Given the description of an element on the screen output the (x, y) to click on. 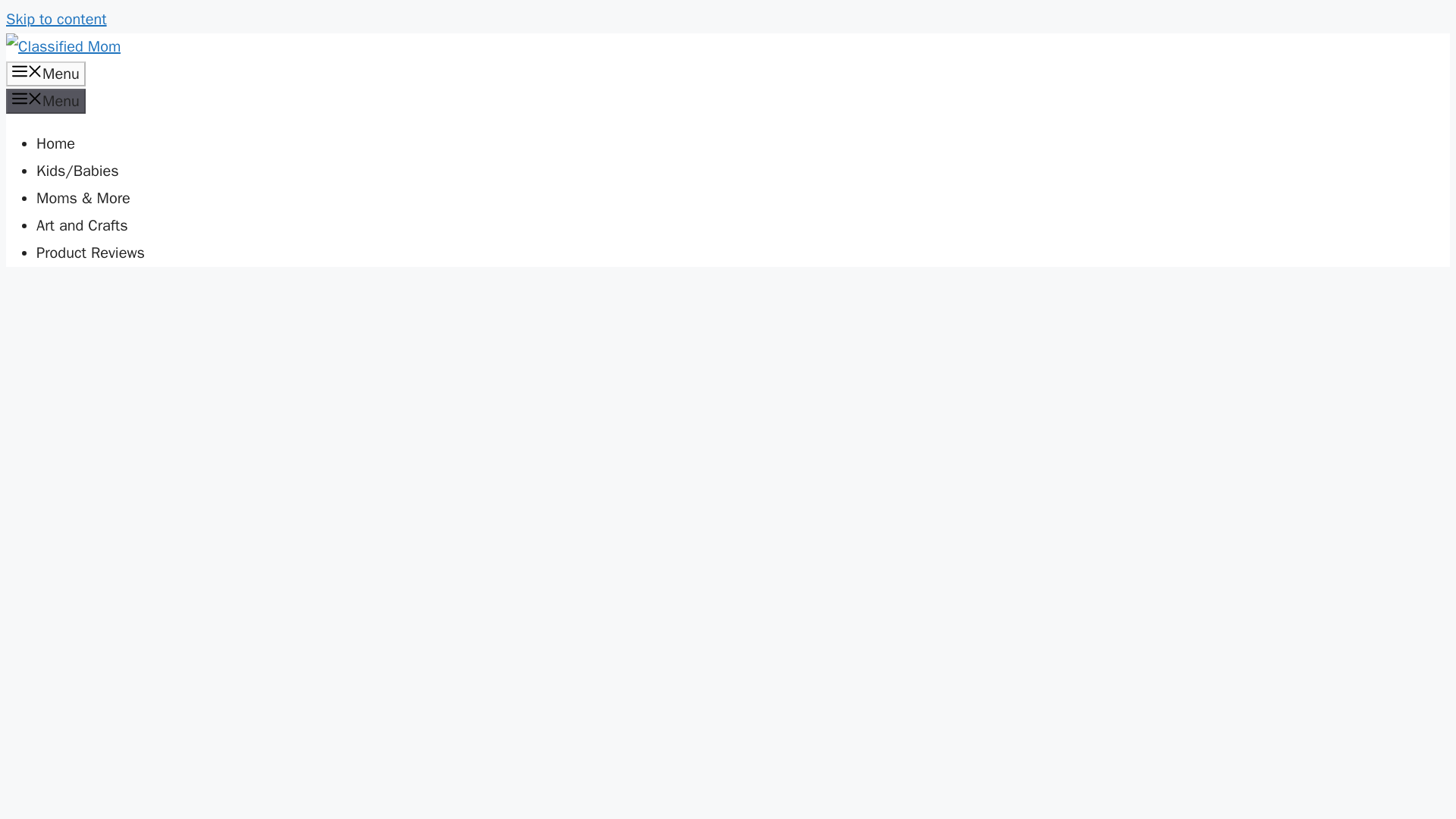
Skip to content (55, 18)
Menu (45, 73)
Menu (45, 100)
Product Reviews (90, 252)
Home (55, 143)
Art and Crafts (82, 225)
Skip to content (55, 18)
